Given the description of an element on the screen output the (x, y) to click on. 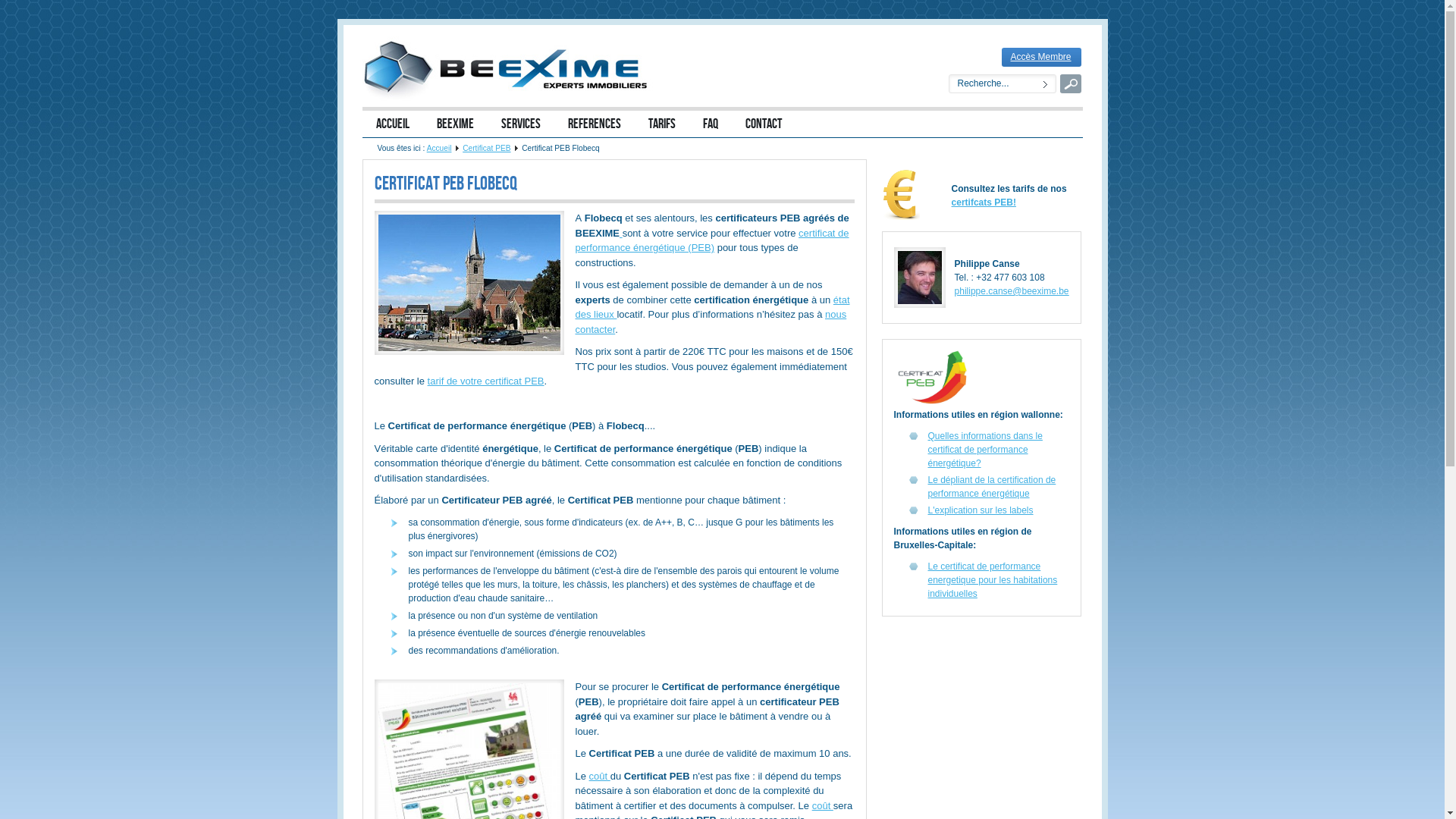
philippe.canse@beexime.be Element type: text (1011, 290)
Certificat PEB Element type: text (486, 148)
TARIFS Element type: text (660, 123)
Accueil Element type: text (438, 148)
Beexime, Experts immobiliers Element type: hover (510, 68)
tarif de votre certificat PEB Element type: text (485, 380)
BEEXIME Element type: text (455, 123)
FAQ Element type: text (709, 123)
REFERENCES Element type: text (593, 123)
CONTACT Element type: text (762, 123)
ACCUEIL Element type: text (392, 123)
certifcats PEB! Element type: text (983, 202)
Valider Element type: text (1070, 83)
L'explication sur les labels Element type: text (980, 510)
nous contacter Element type: text (710, 321)
SERVICES Element type: text (519, 123)
